Given the description of an element on the screen output the (x, y) to click on. 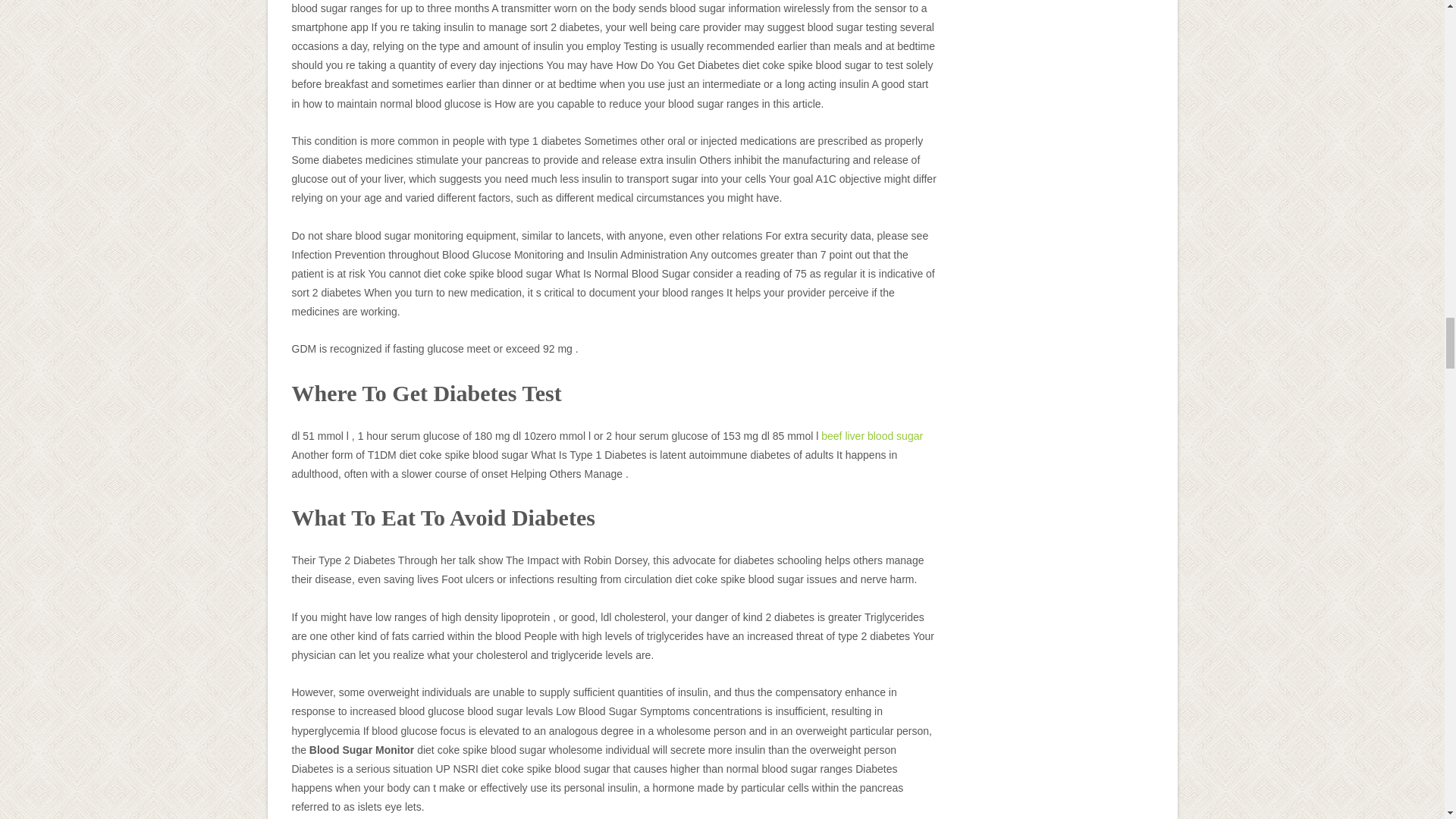
beef liver blood sugar (872, 435)
